Given the description of an element on the screen output the (x, y) to click on. 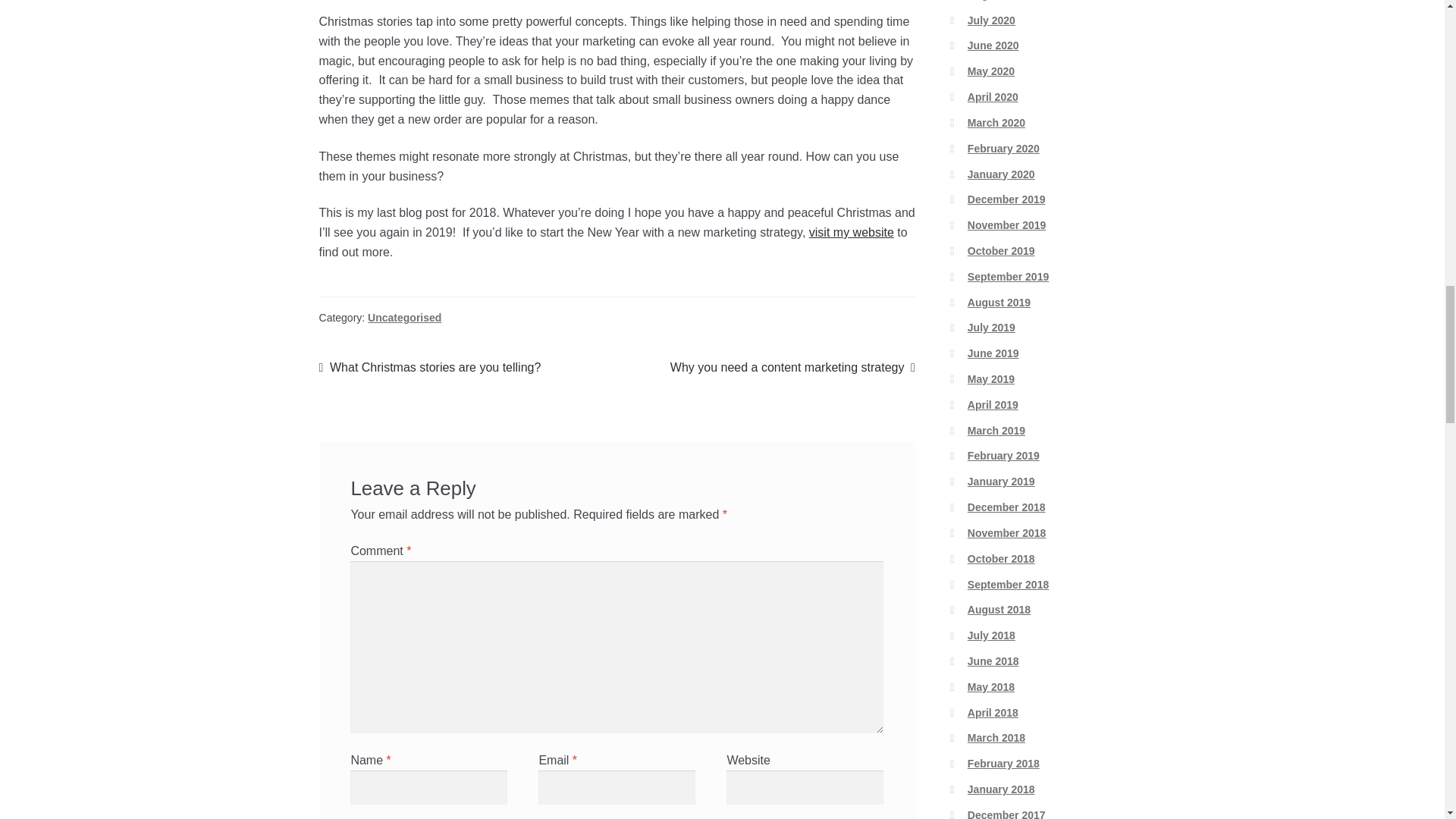
Uncategorised (429, 367)
visit my website (404, 317)
